Given the description of an element on the screen output the (x, y) to click on. 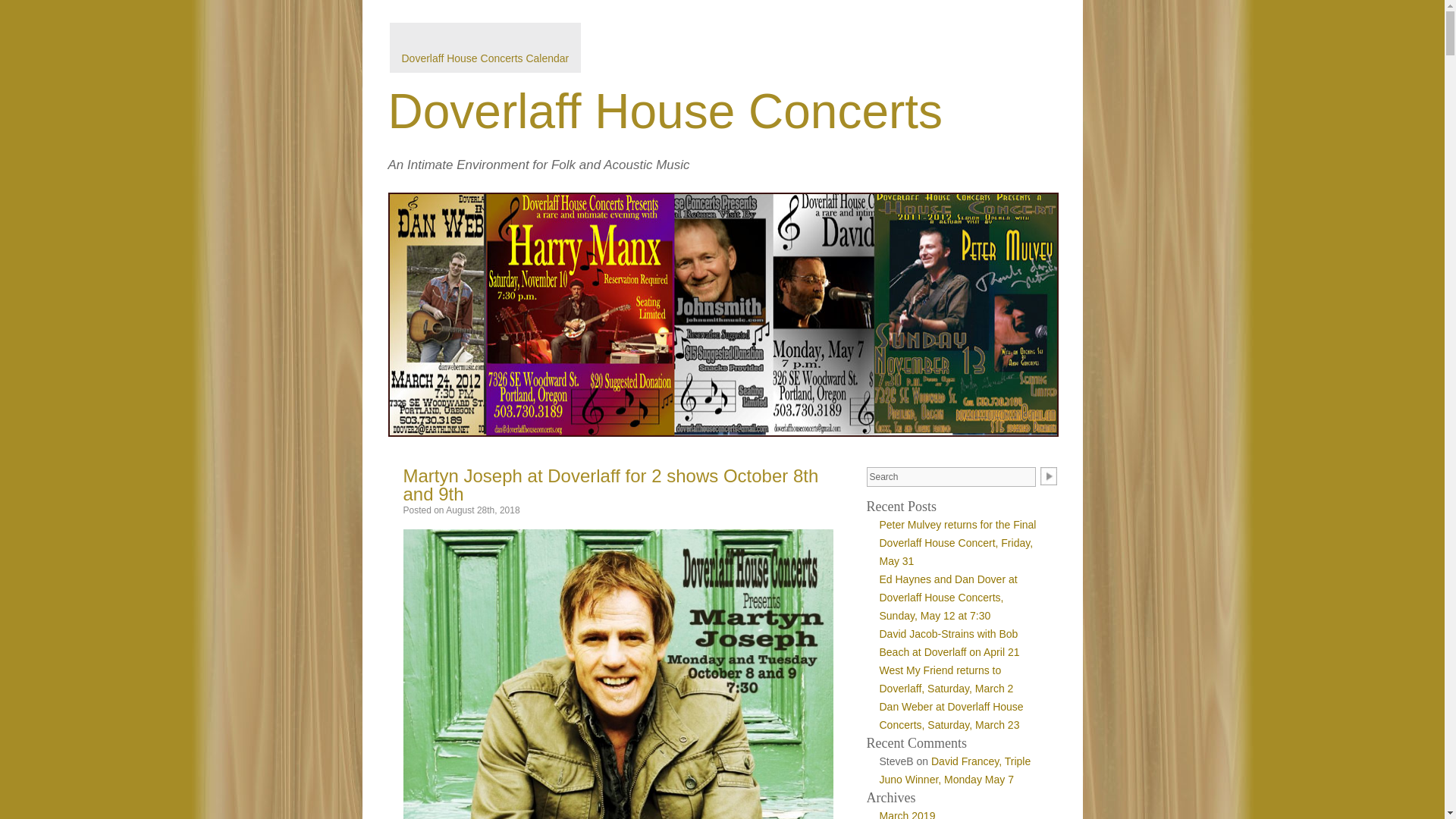
Doverlaff House Concerts Calendar (485, 58)
Doverlaff House Concerts (665, 111)
Search (950, 476)
Doverlaff House Concerts (665, 111)
Martyn Joseph at Doverlaff for 2 shows October 8th and 9th (610, 485)
